Given the description of an element on the screen output the (x, y) to click on. 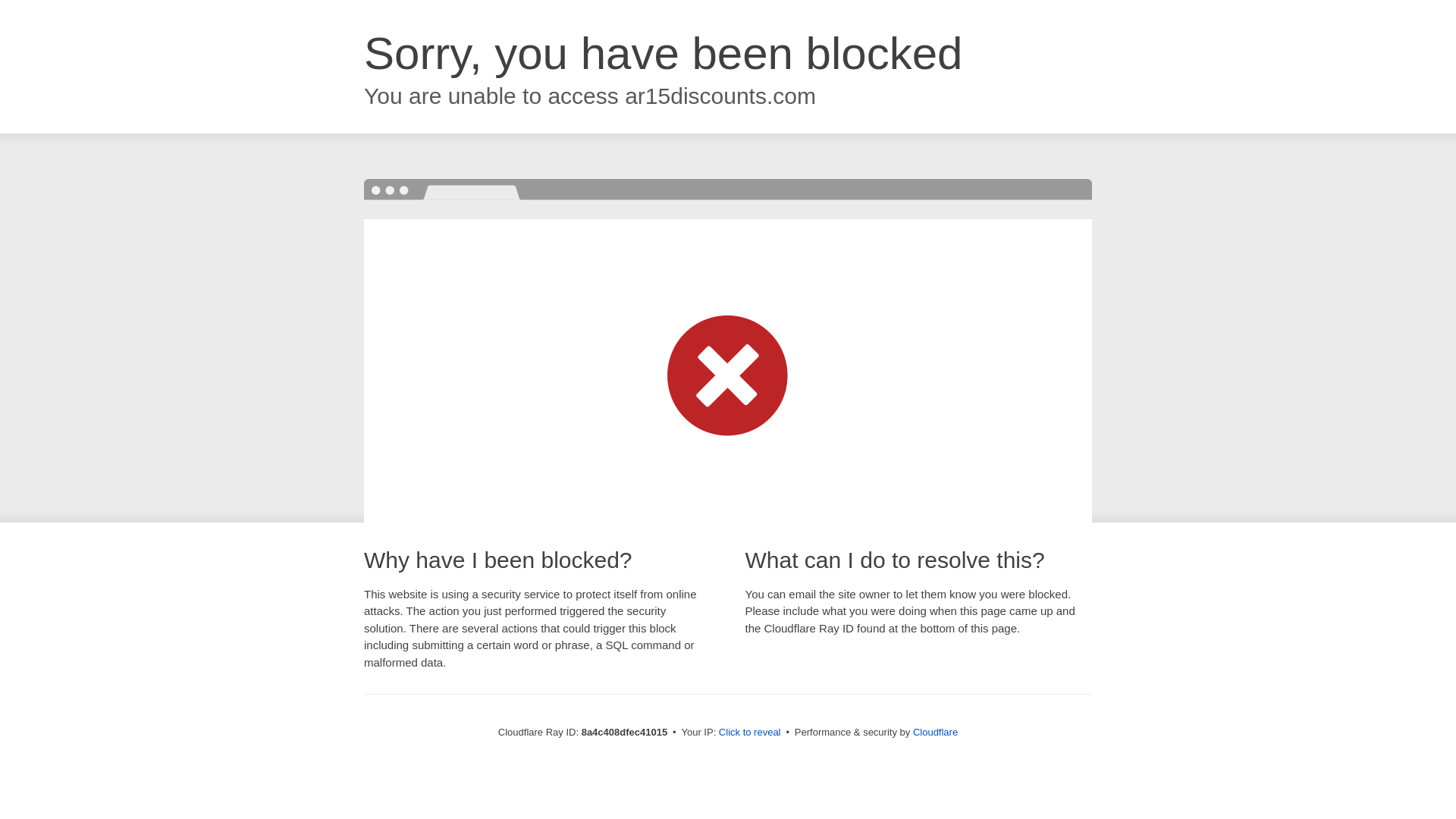
Cloudflare (935, 731)
Click to reveal (749, 732)
